Given the description of an element on the screen output the (x, y) to click on. 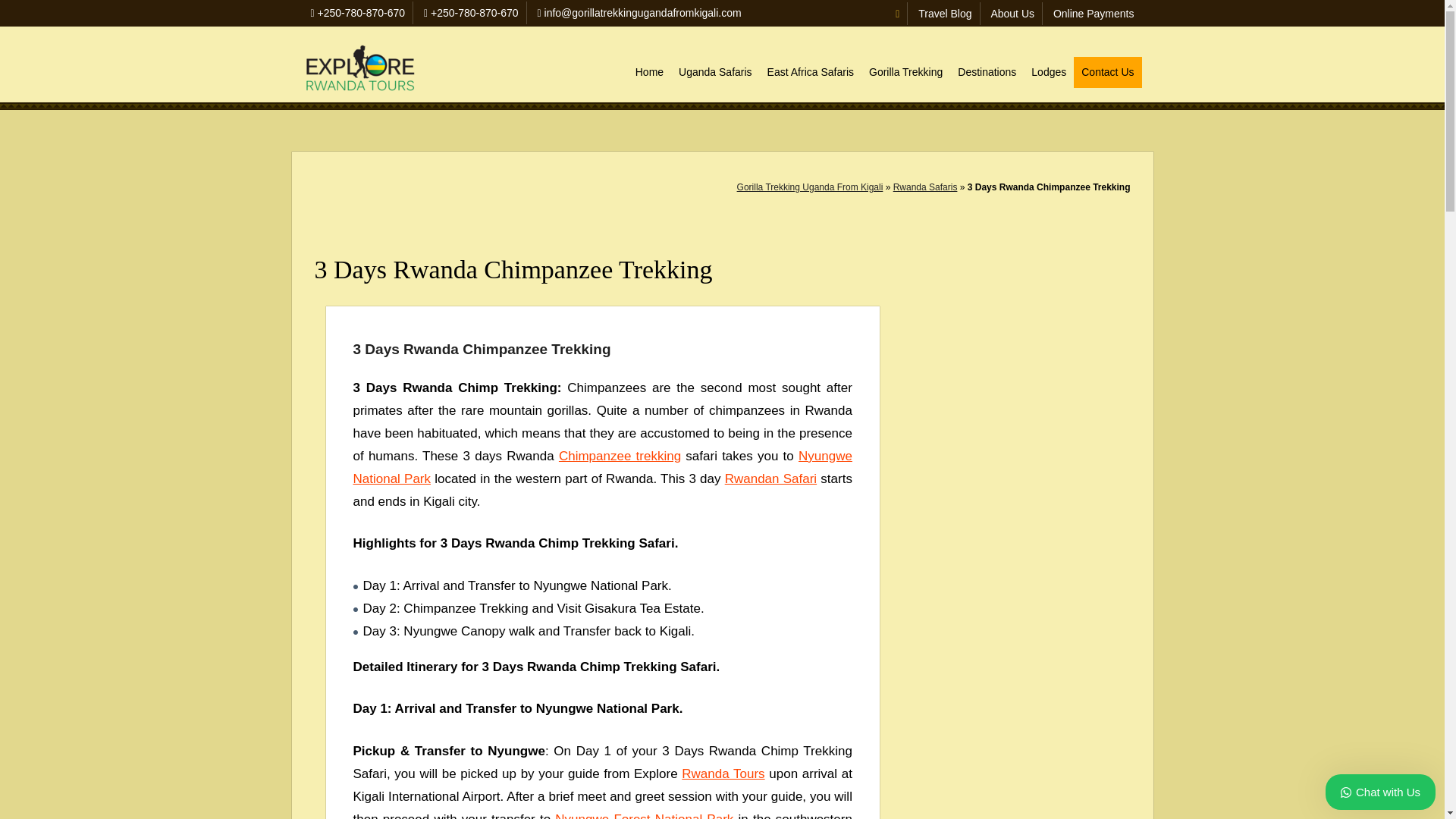
Chimpanzee trekking (620, 455)
Online Payments (1093, 13)
About Us (1011, 13)
Rwandan Safari (770, 478)
Nyungwe National Park (602, 467)
Contact Us (1107, 71)
Lodges (1048, 71)
Rwanda Tours (722, 773)
Nyungwe Forest National Park (643, 815)
Travel Blog (944, 13)
Uganda Safaris (715, 71)
East Africa Safaris (810, 71)
Rwanda Safaris (925, 186)
Home (649, 71)
Gorilla Trekking Uganda From Kigali (809, 186)
